Given the description of an element on the screen output the (x, y) to click on. 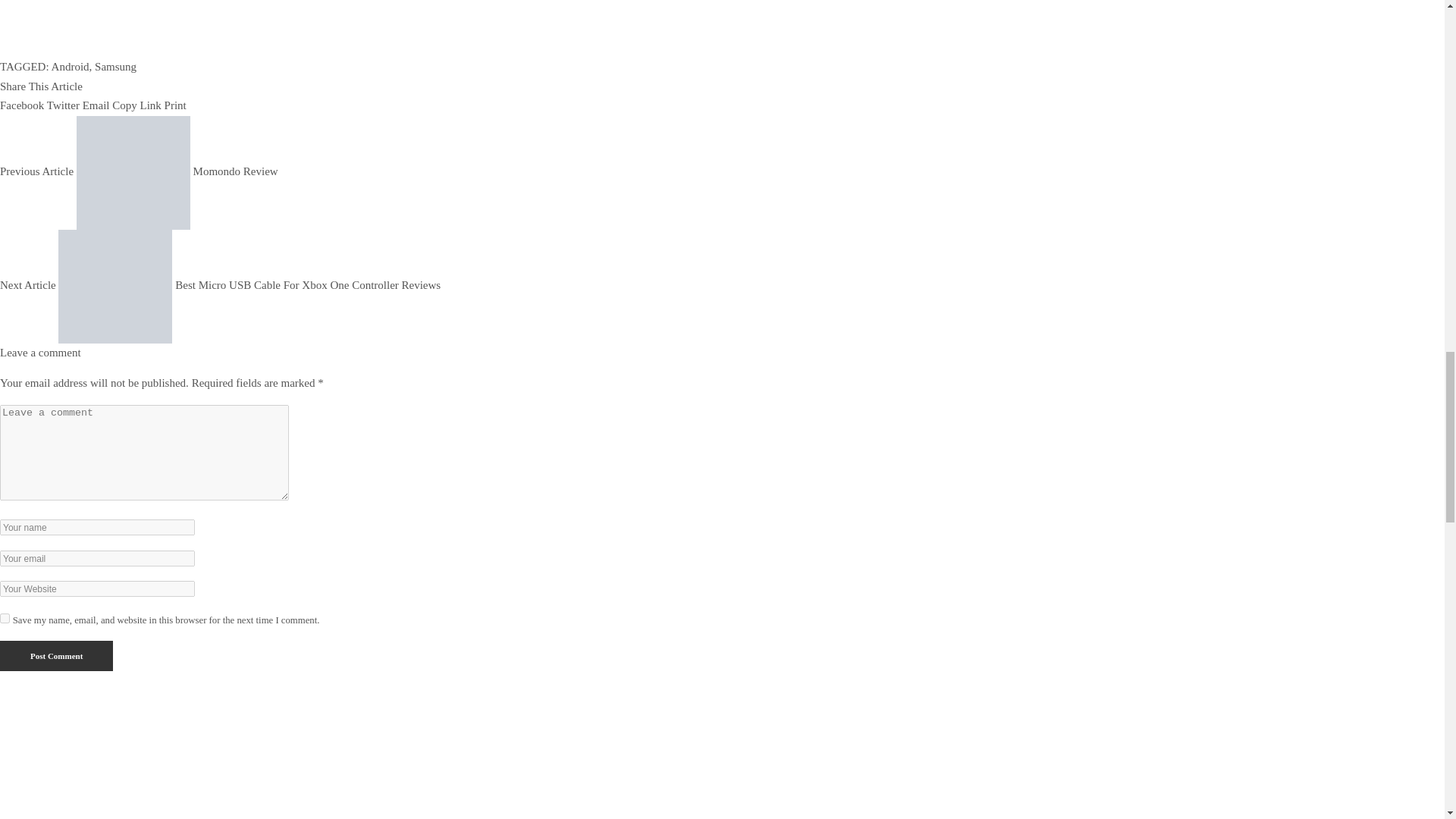
yes (5, 617)
Post Comment (56, 655)
Android (69, 66)
